Given the description of an element on the screen output the (x, y) to click on. 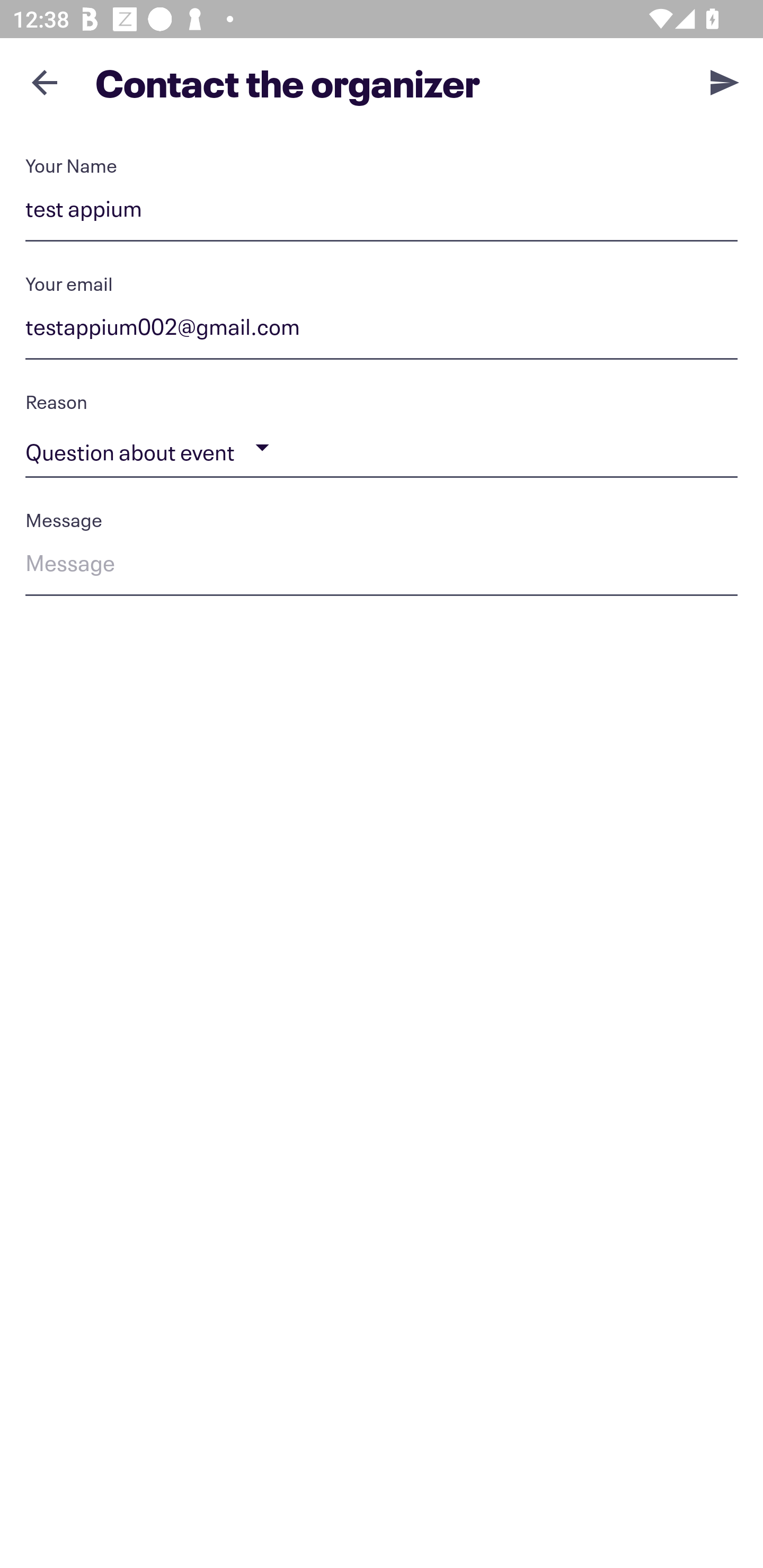
Navigate up (44, 82)
Send (724, 81)
test appium (381, 211)
testappium002@gmail.com (381, 329)
Question about event    (381, 447)
Message (381, 565)
